Given the description of an element on the screen output the (x, y) to click on. 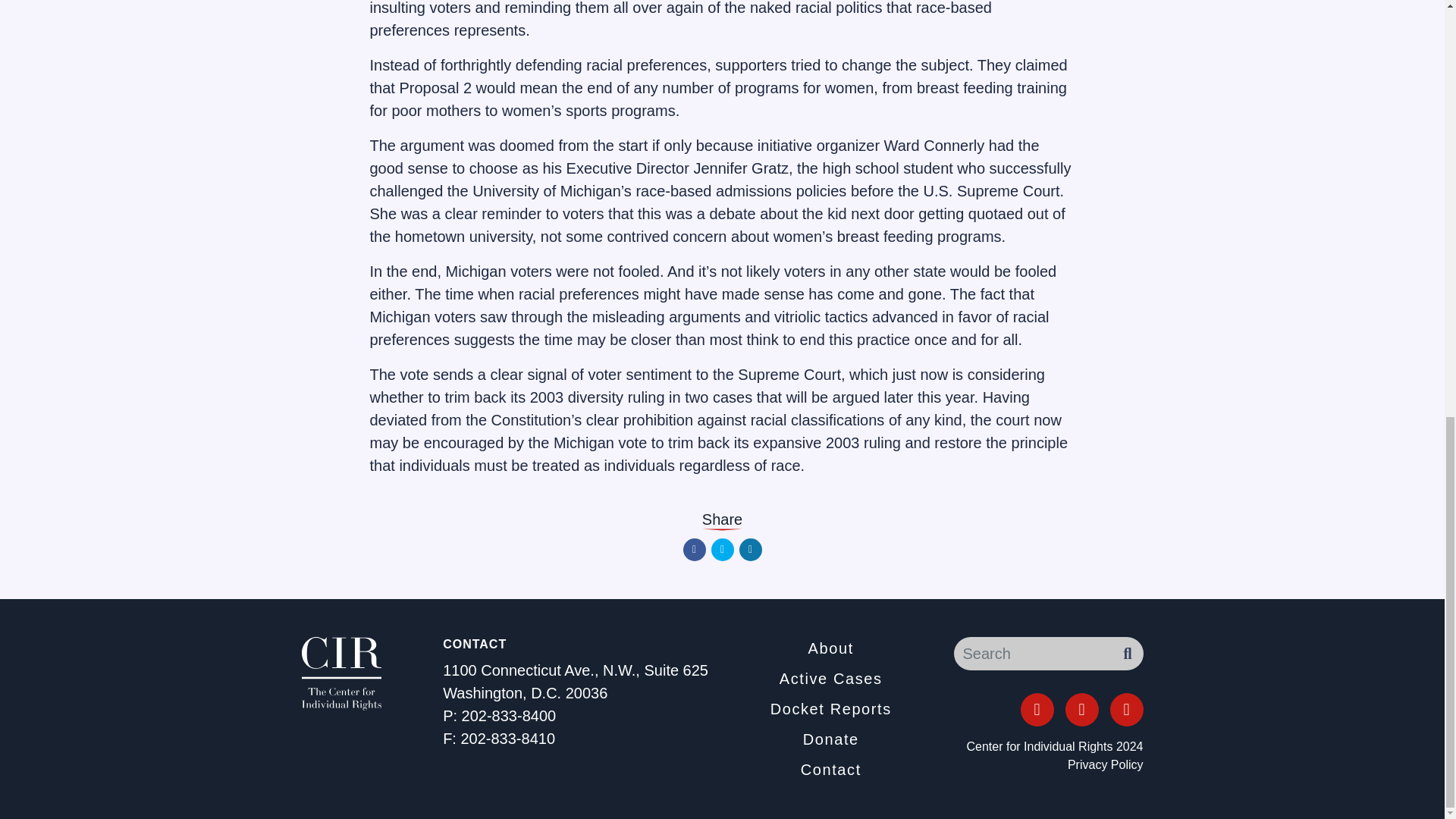
LinkedIn (749, 549)
Contact (830, 769)
Active Cases (830, 678)
Facebook (693, 549)
202-833-8400 (508, 715)
Twitter (722, 549)
Donate (831, 739)
Docket Reports (830, 708)
Privacy Policy (1104, 764)
LinkedIn (1125, 709)
